Given the description of an element on the screen output the (x, y) to click on. 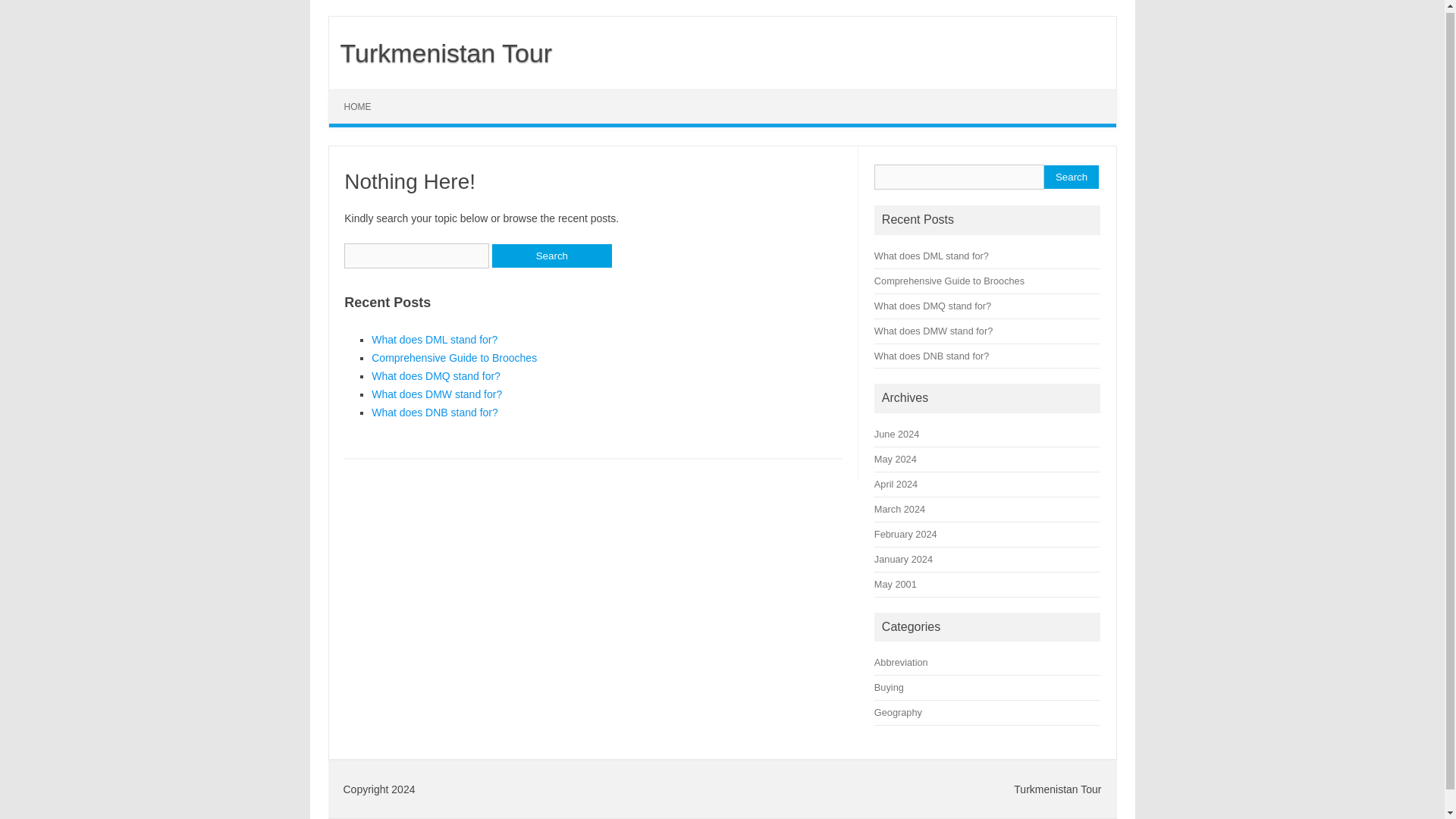
Search (551, 255)
What does DML stand for? (931, 255)
May 2024 (896, 459)
May 2001 (896, 583)
January 2024 (904, 559)
What does DNB stand for? (931, 355)
Turkmenistan Tour (441, 52)
Buying (889, 686)
Comprehensive Guide to Brooches (950, 280)
HOME (358, 106)
